Given the description of an element on the screen output the (x, y) to click on. 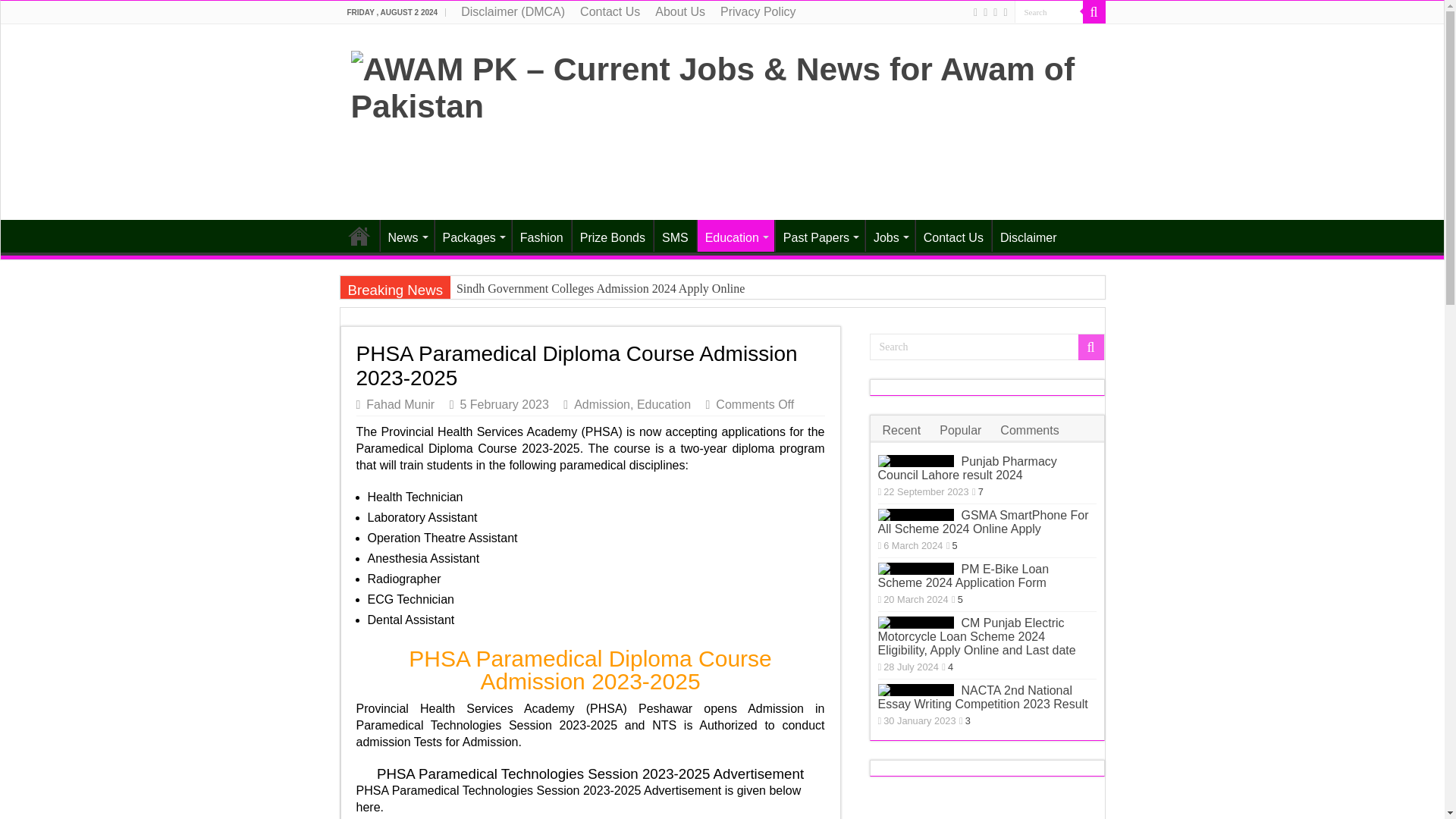
News (405, 235)
Packages (472, 235)
Search (986, 346)
Contact Us (609, 11)
About Us (680, 11)
Search (1048, 11)
Home (358, 235)
Prize Bonds (612, 235)
Education (735, 235)
Search (1048, 11)
Fashion (541, 235)
SMS (674, 235)
Search (1094, 11)
Sindh Government Colleges Admission 2024 Apply Online (660, 289)
Search (1048, 11)
